Given the description of an element on the screen output the (x, y) to click on. 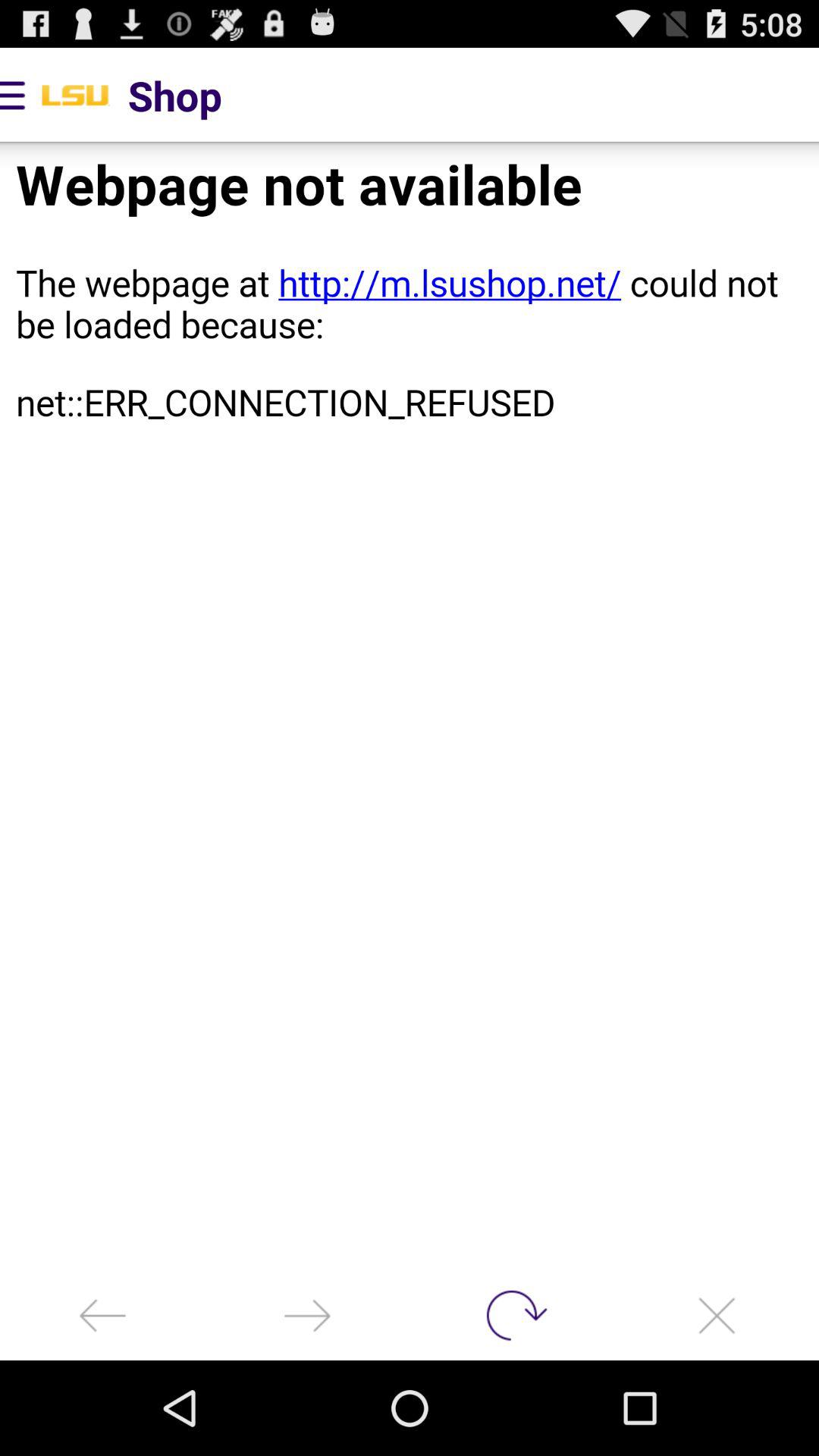
delete browser tab option (716, 1315)
